Given the description of an element on the screen output the (x, y) to click on. 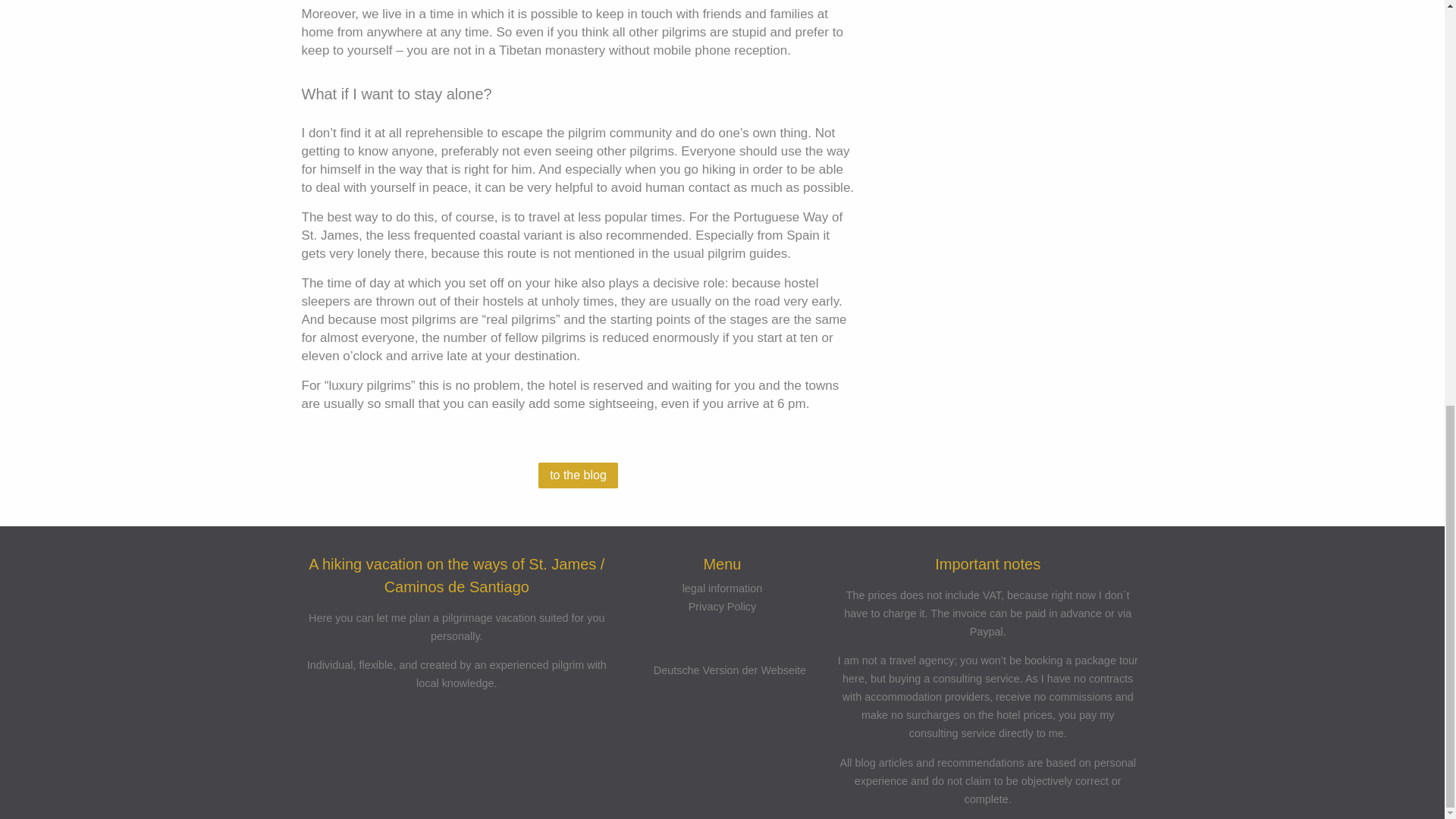
Privacy Policy (722, 595)
legal information (722, 576)
Deutsche Version der Webseite (722, 658)
to the blog (577, 475)
